Given the description of an element on the screen output the (x, y) to click on. 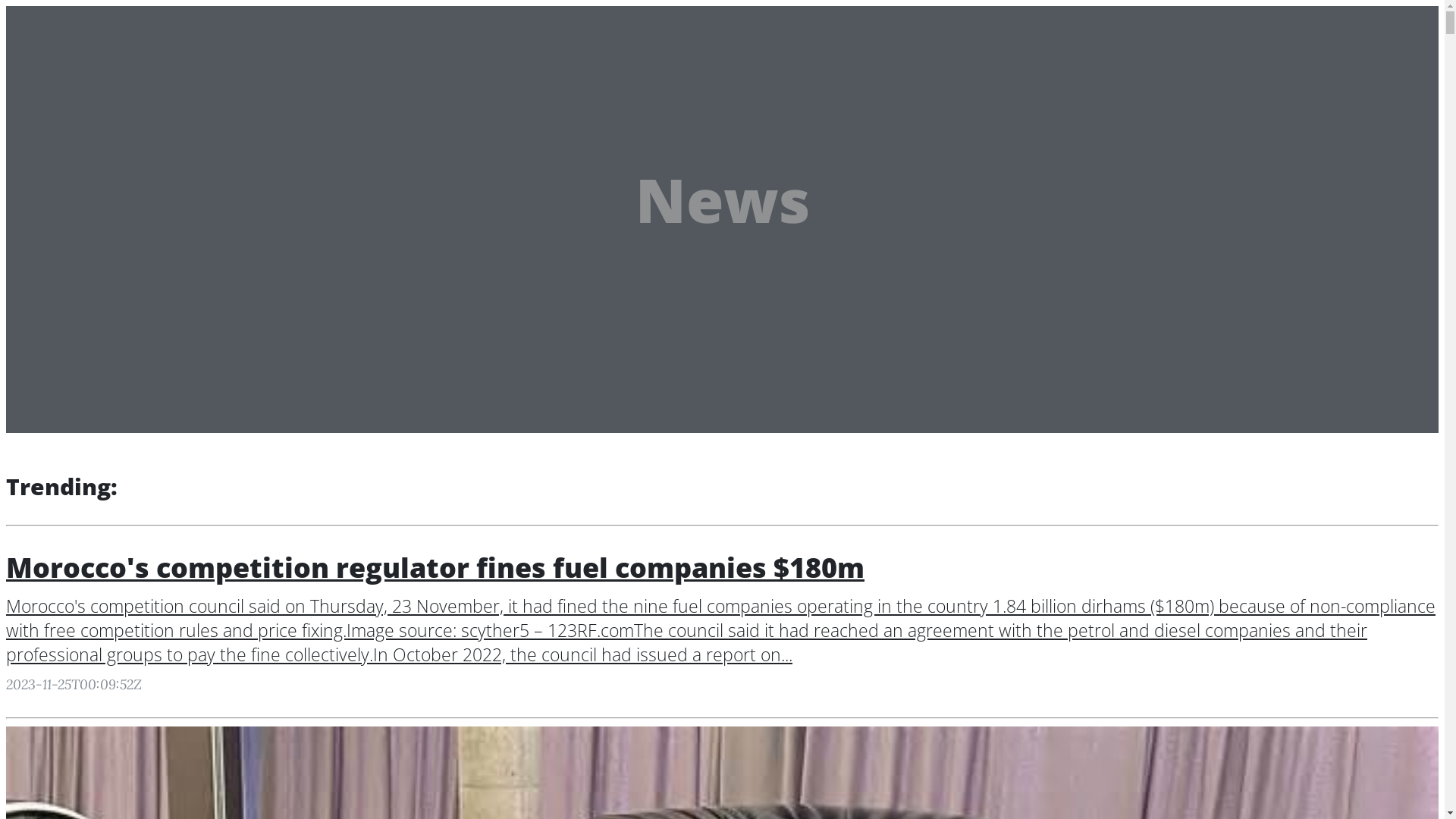
SDFDSF32FSD Element type: text (85, 87)
MENU Element type: text (182, 22)
budgethotel.cd Element type: text (79, 19)
HOME Element type: text (67, 67)
